Given the description of an element on the screen output the (x, y) to click on. 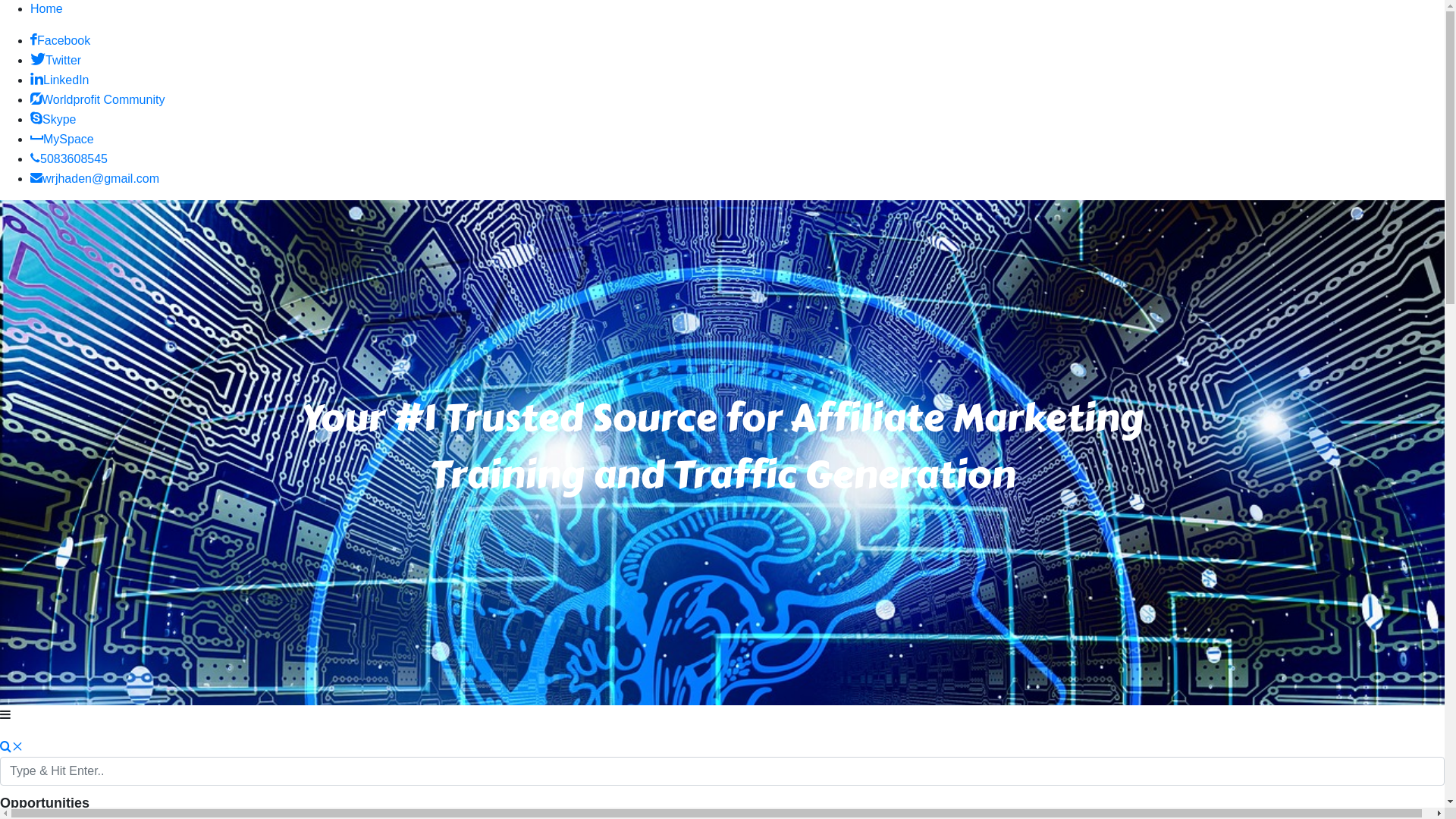
Skype Element type: text (52, 118)
LinkedIn Element type: text (59, 79)
Facebook Element type: text (60, 40)
Twitter Element type: text (55, 59)
wrjhaden@gmail.com Element type: text (94, 178)
5083608545 Element type: text (68, 158)
Worldprofit Community Element type: text (97, 99)
Home Element type: text (46, 8)
MySpace Element type: text (62, 138)
